Given the description of an element on the screen output the (x, y) to click on. 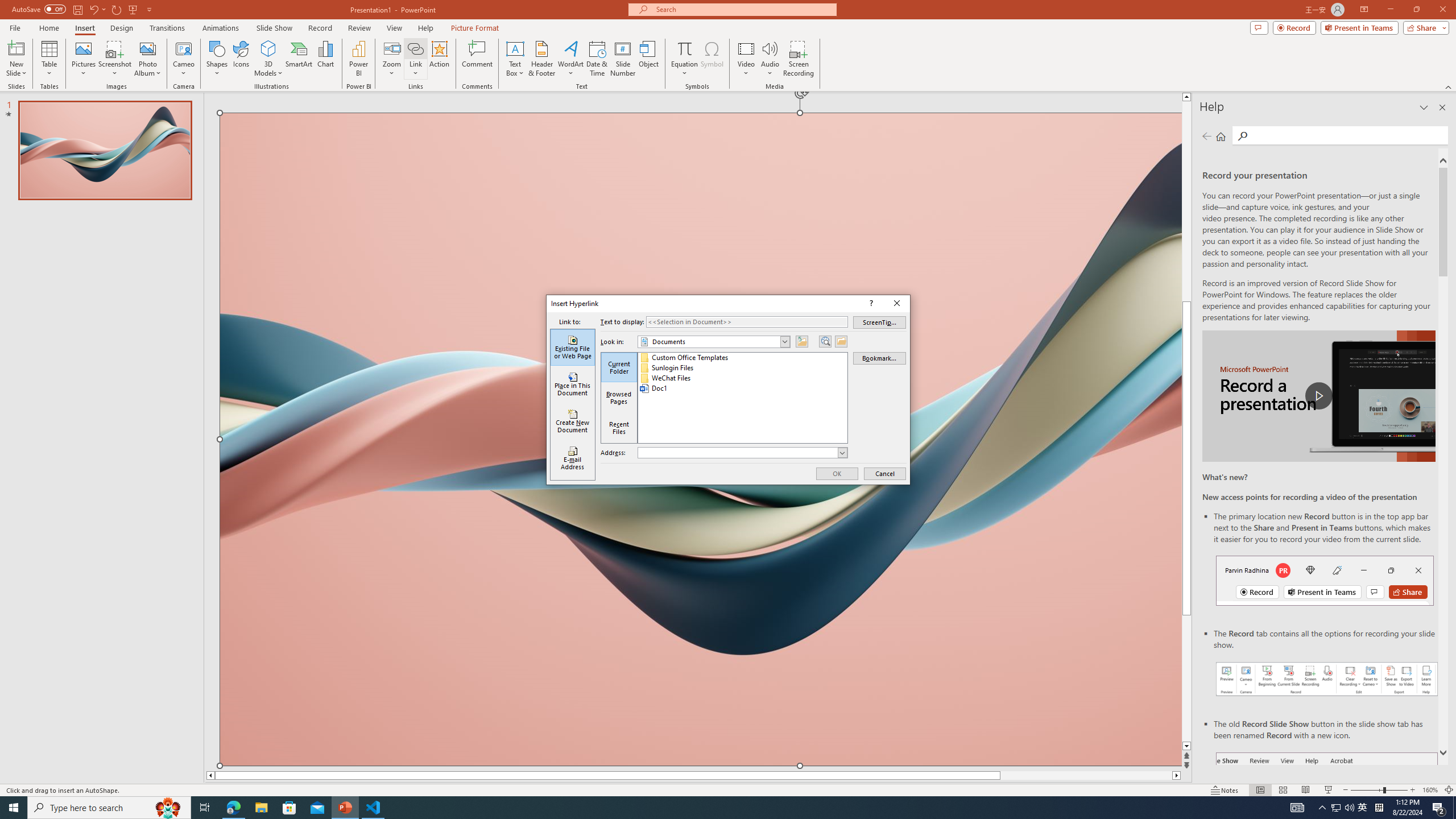
WordArt (570, 58)
New Photo Album... (147, 48)
Date & Time... (596, 58)
Recent Files (619, 427)
